Given the description of an element on the screen output the (x, y) to click on. 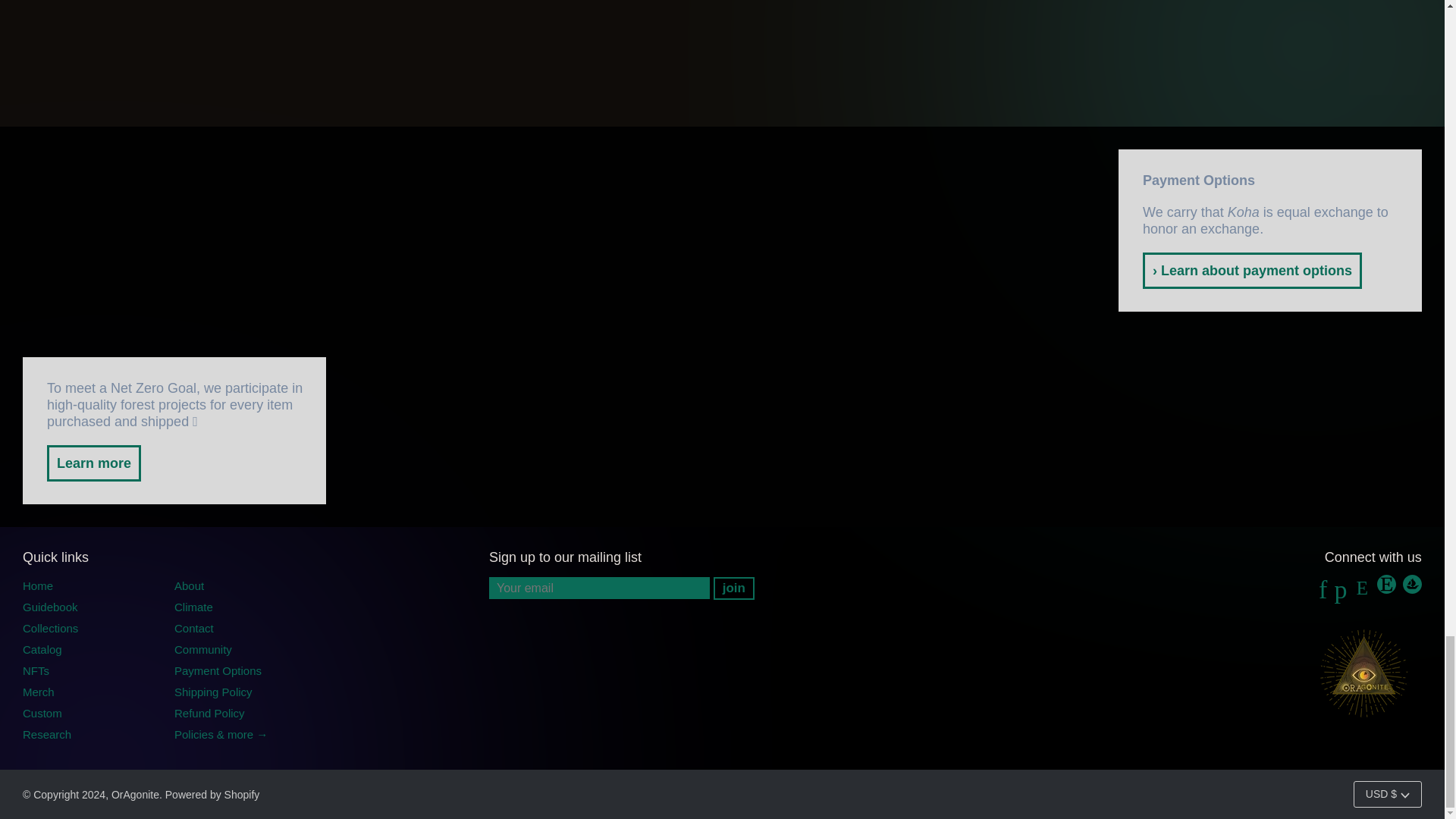
OrAgonite on OpenSea (1412, 594)
join (733, 588)
OrAgonite on Instagram (1362, 594)
OrAgonite on Etsy (1388, 594)
OrAgonite on Pinterest (1341, 594)
